Given the description of an element on the screen output the (x, y) to click on. 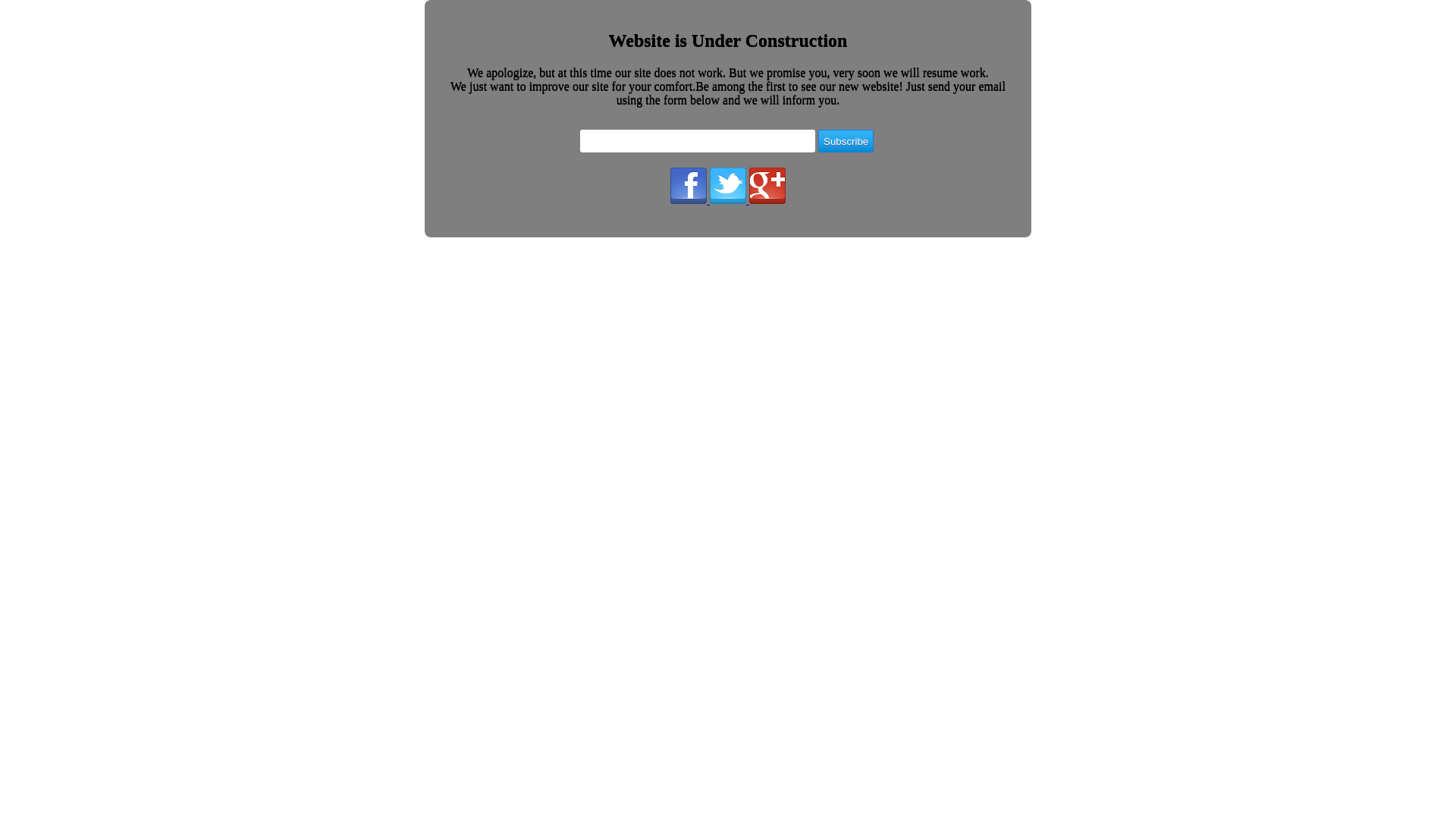
Subscribe Element type: text (845, 140)
